Given the description of an element on the screen output the (x, y) to click on. 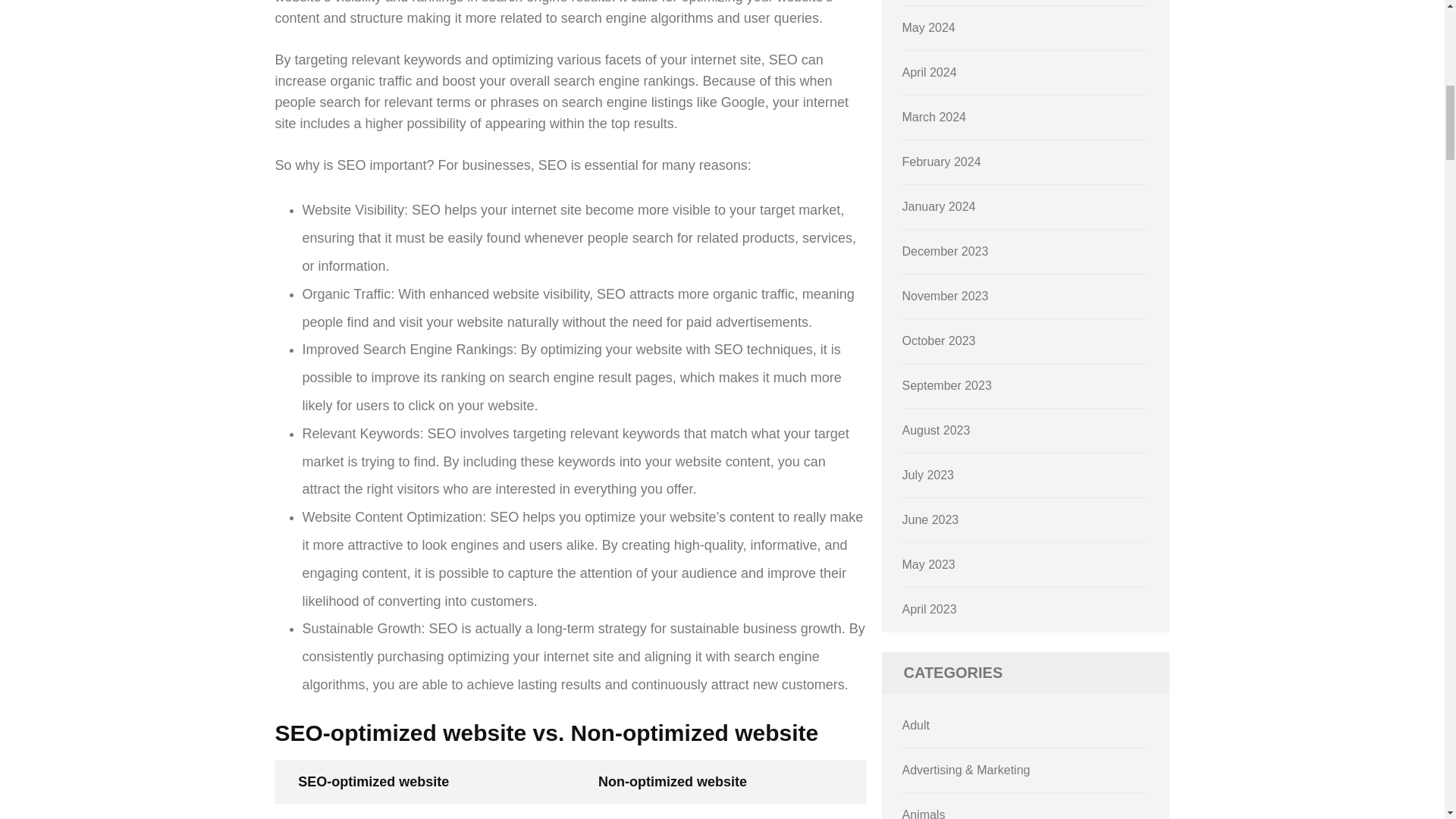
May 2024 (928, 27)
February 2024 (941, 161)
September 2023 (946, 385)
April 2024 (929, 72)
July 2023 (928, 474)
January 2024 (938, 205)
November 2023 (945, 295)
March 2024 (934, 116)
October 2023 (938, 340)
August 2023 (936, 430)
